Given the description of an element on the screen output the (x, y) to click on. 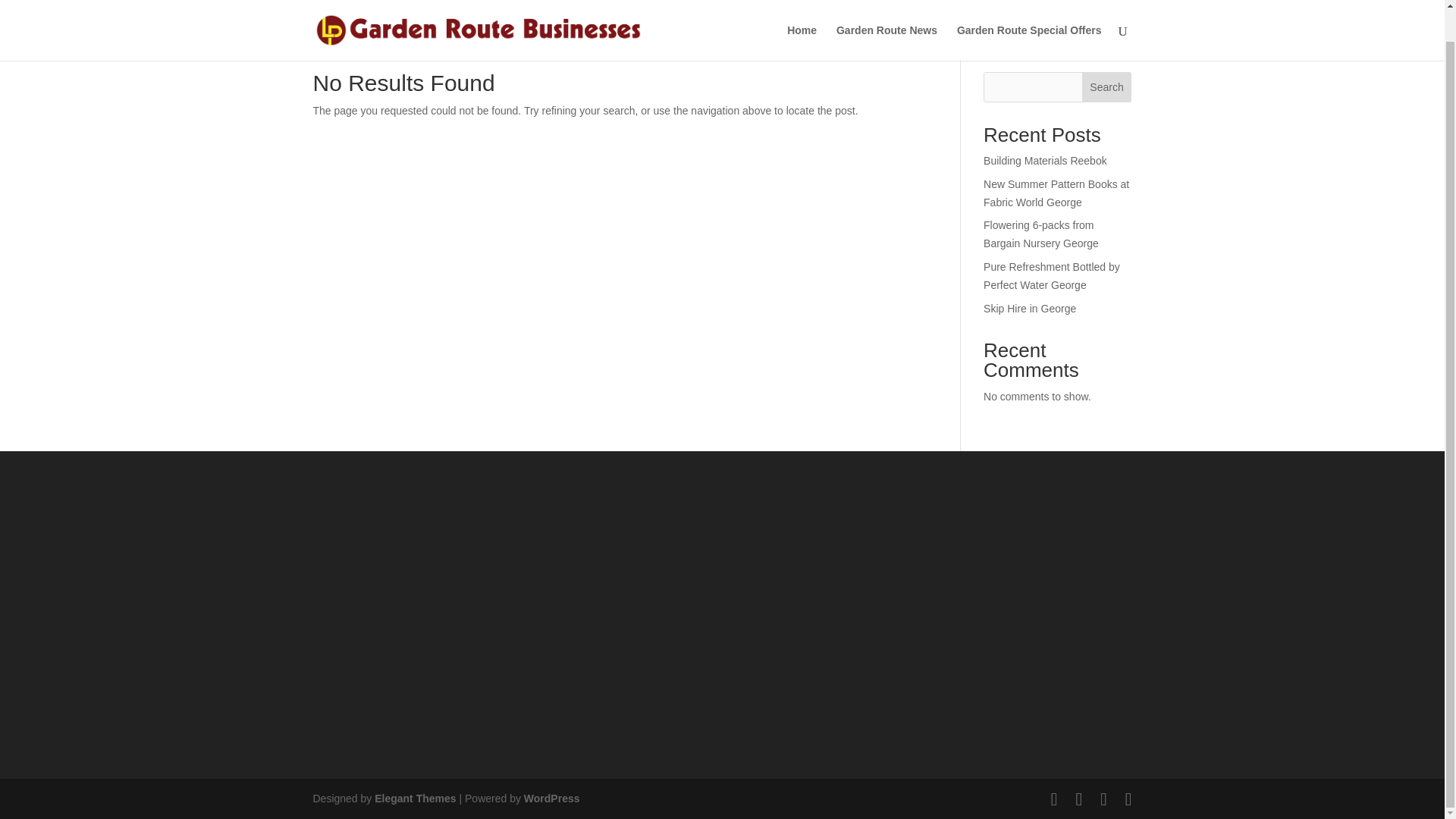
WordPress (551, 798)
Flowering 6-packs from Bargain Nursery George (1041, 234)
Skip Hire in George (1029, 308)
Building Materials Reebok (1045, 160)
Garden Route Special Offers (1029, 13)
Home (801, 13)
Elegant Themes (414, 798)
Garden Route News (886, 13)
Pure Refreshment Bottled by Perfect Water George (1051, 276)
Search (1106, 87)
